Given the description of an element on the screen output the (x, y) to click on. 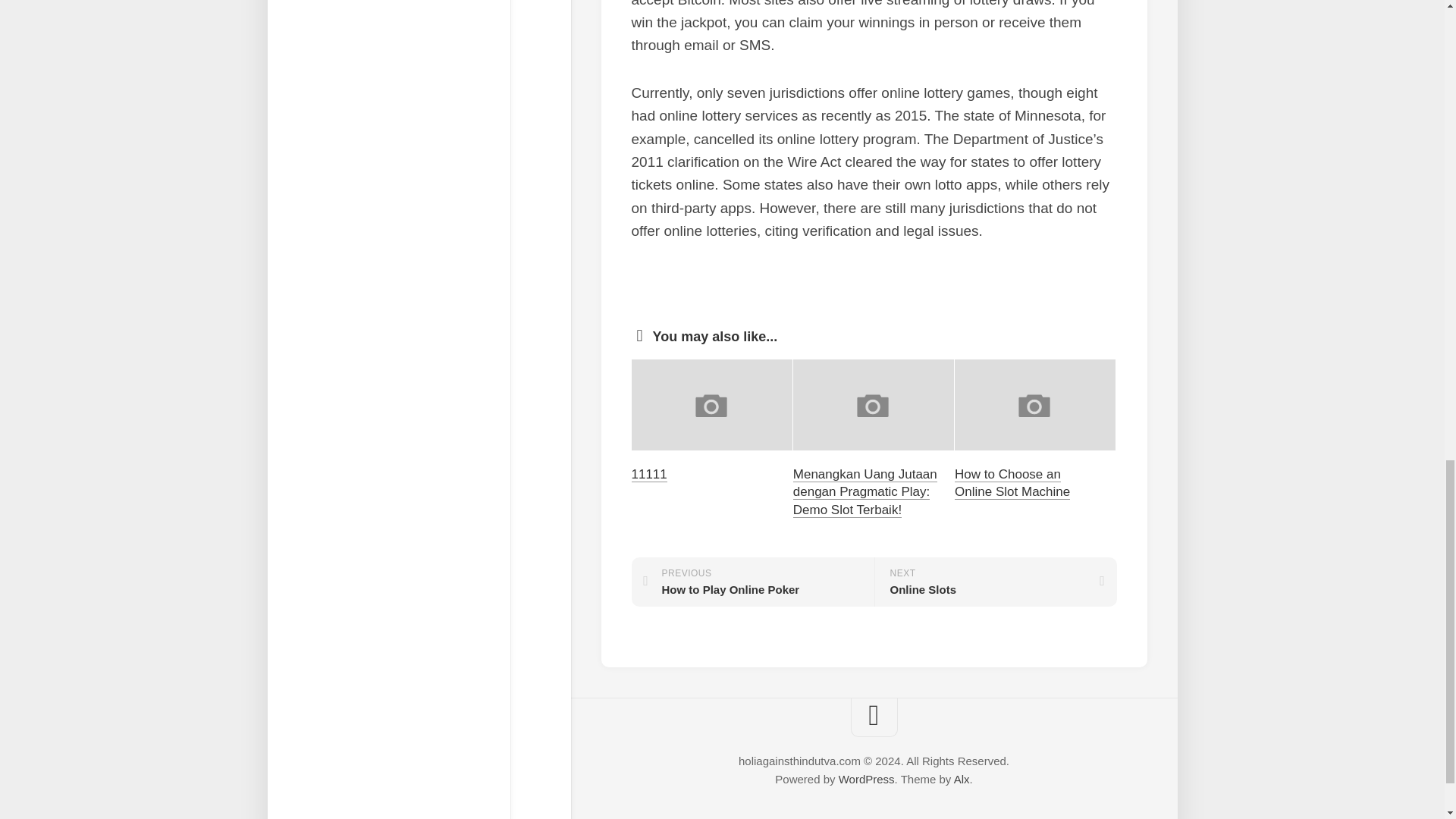
WordPress (866, 779)
How to Choose an Online Slot Machine (1012, 482)
Alx (961, 779)
11111 (751, 581)
